Given the description of an element on the screen output the (x, y) to click on. 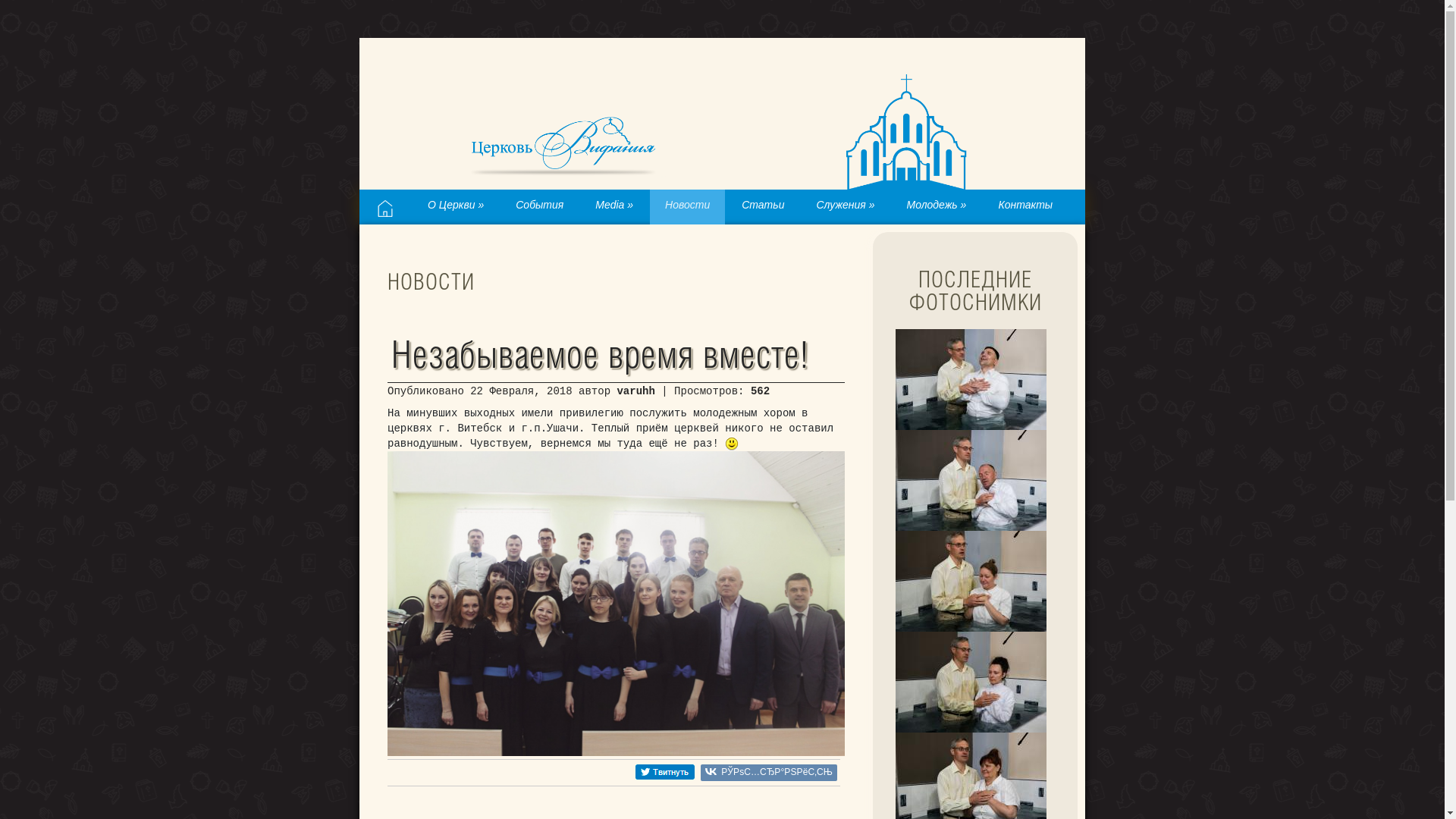
F-11_small Element type: hover (970, 681)
F-26_small Element type: hover (970, 379)
F-23_small Element type: hover (970, 479)
F-12_small Element type: hover (970, 580)
